Given the description of an element on the screen output the (x, y) to click on. 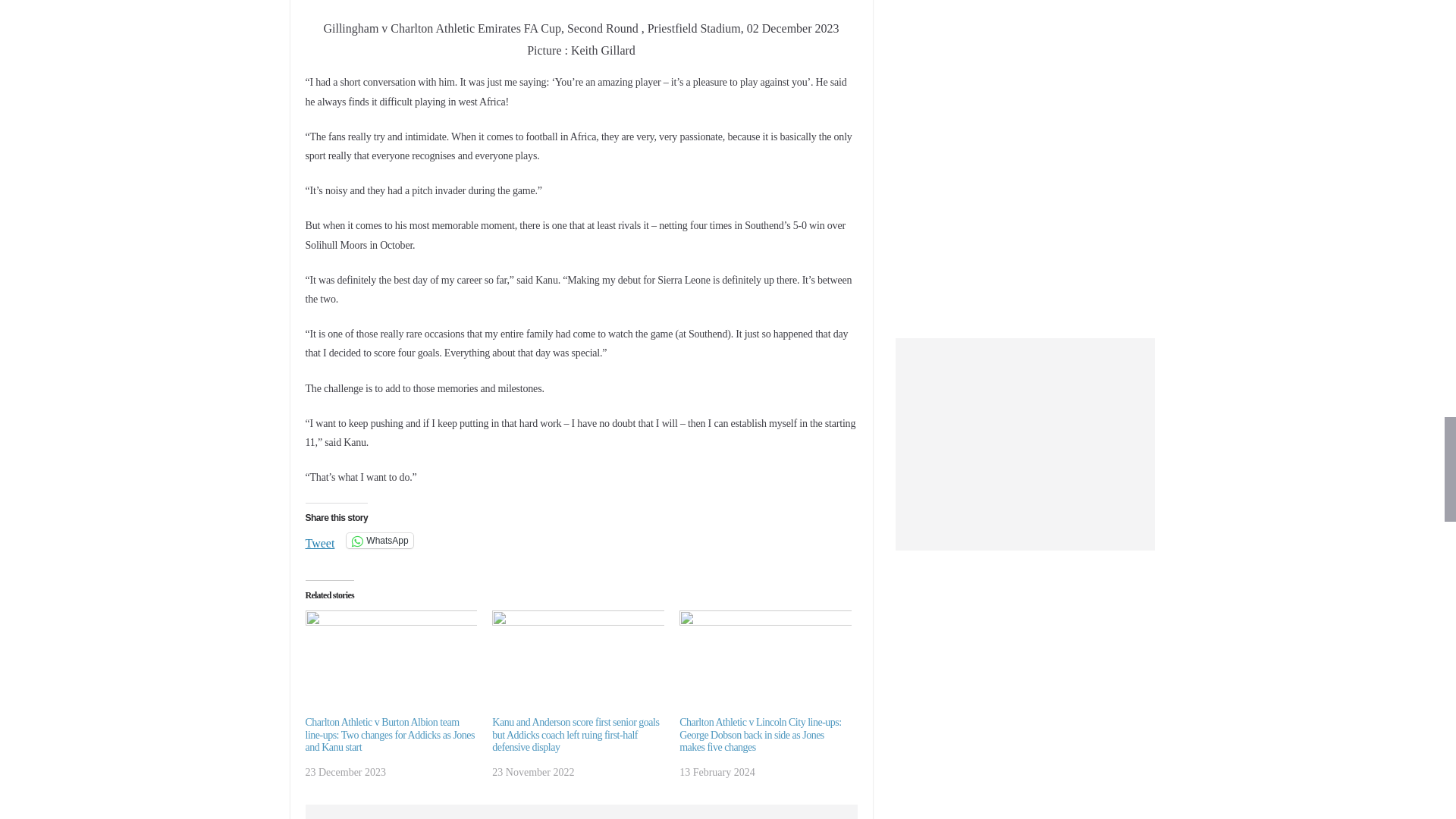
Click to share on WhatsApp (379, 540)
